Given the description of an element on the screen output the (x, y) to click on. 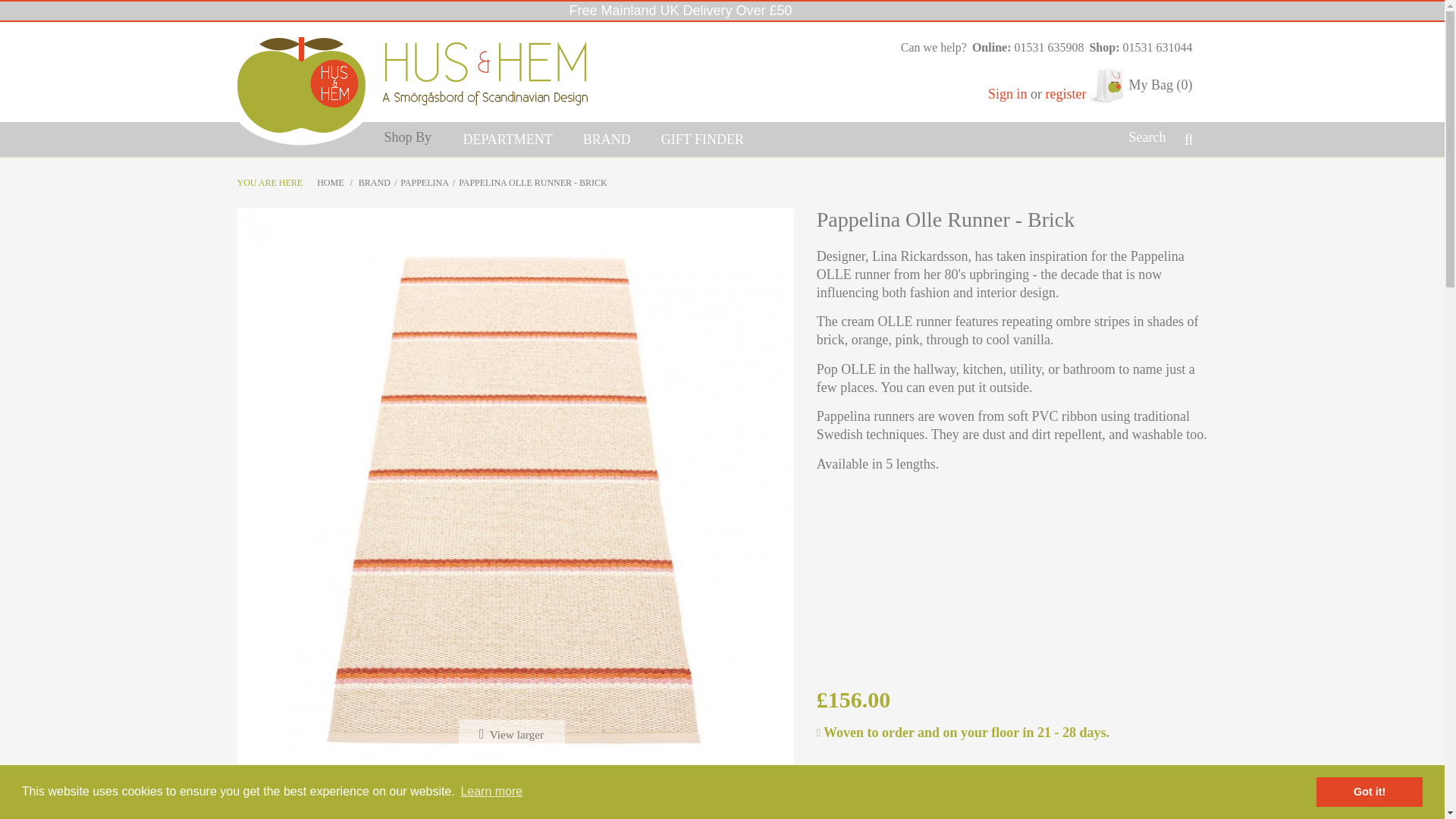
Learn more (491, 791)
Can we help? (930, 47)
Sign in (1009, 93)
DEPARTMENT (506, 139)
Shop: 01531 631044 (1137, 47)
Department (506, 139)
View my shopping cart (1139, 85)
Log in to your customer account (1009, 93)
Got it! (1369, 791)
Online: 01531 635908 (1025, 47)
Log in to your customer account (1065, 93)
register (1065, 93)
